Given the description of an element on the screen output the (x, y) to click on. 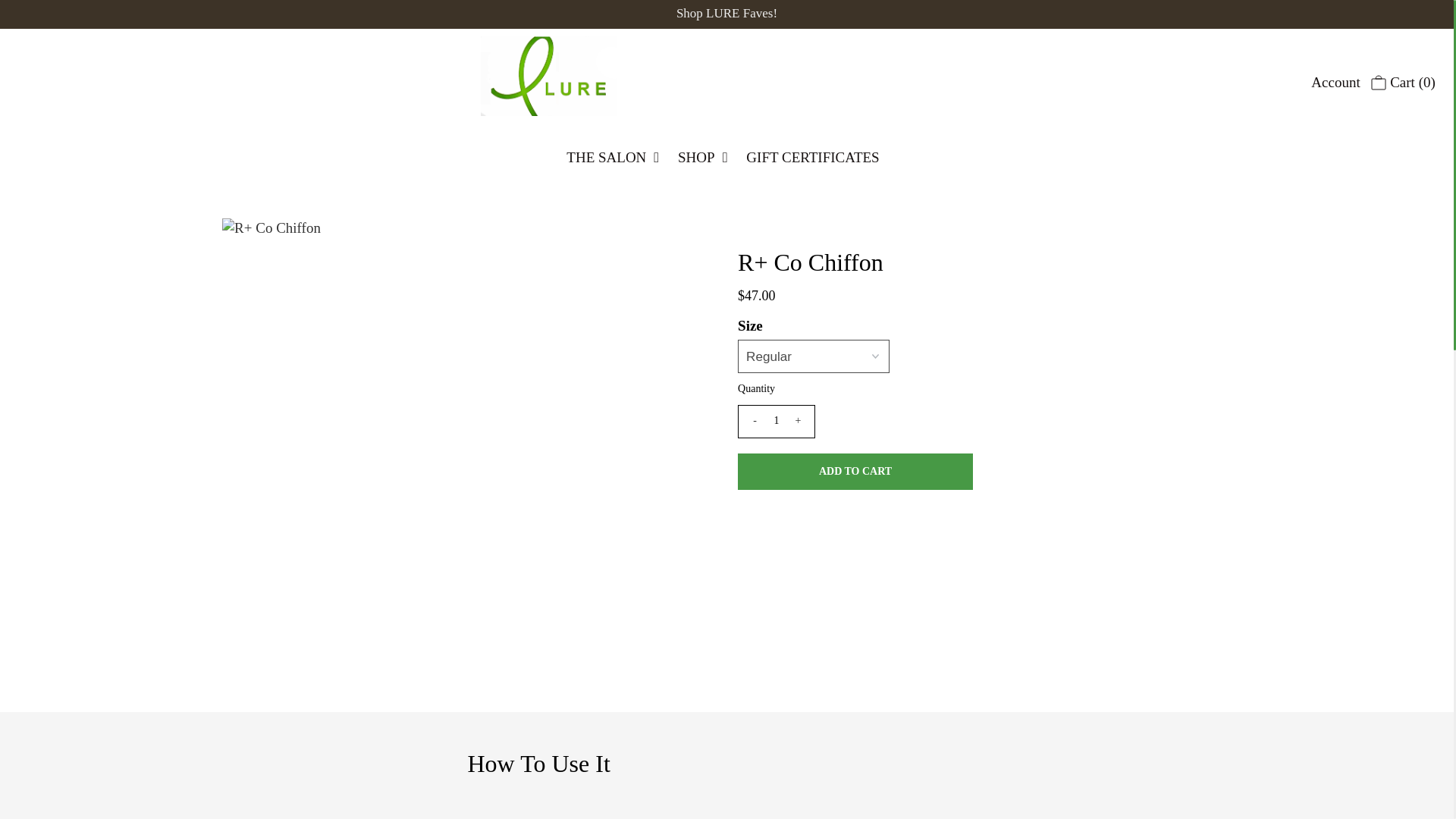
Account (1335, 82)
THE SALON (616, 157)
Add to Cart (855, 471)
